Given the description of an element on the screen output the (x, y) to click on. 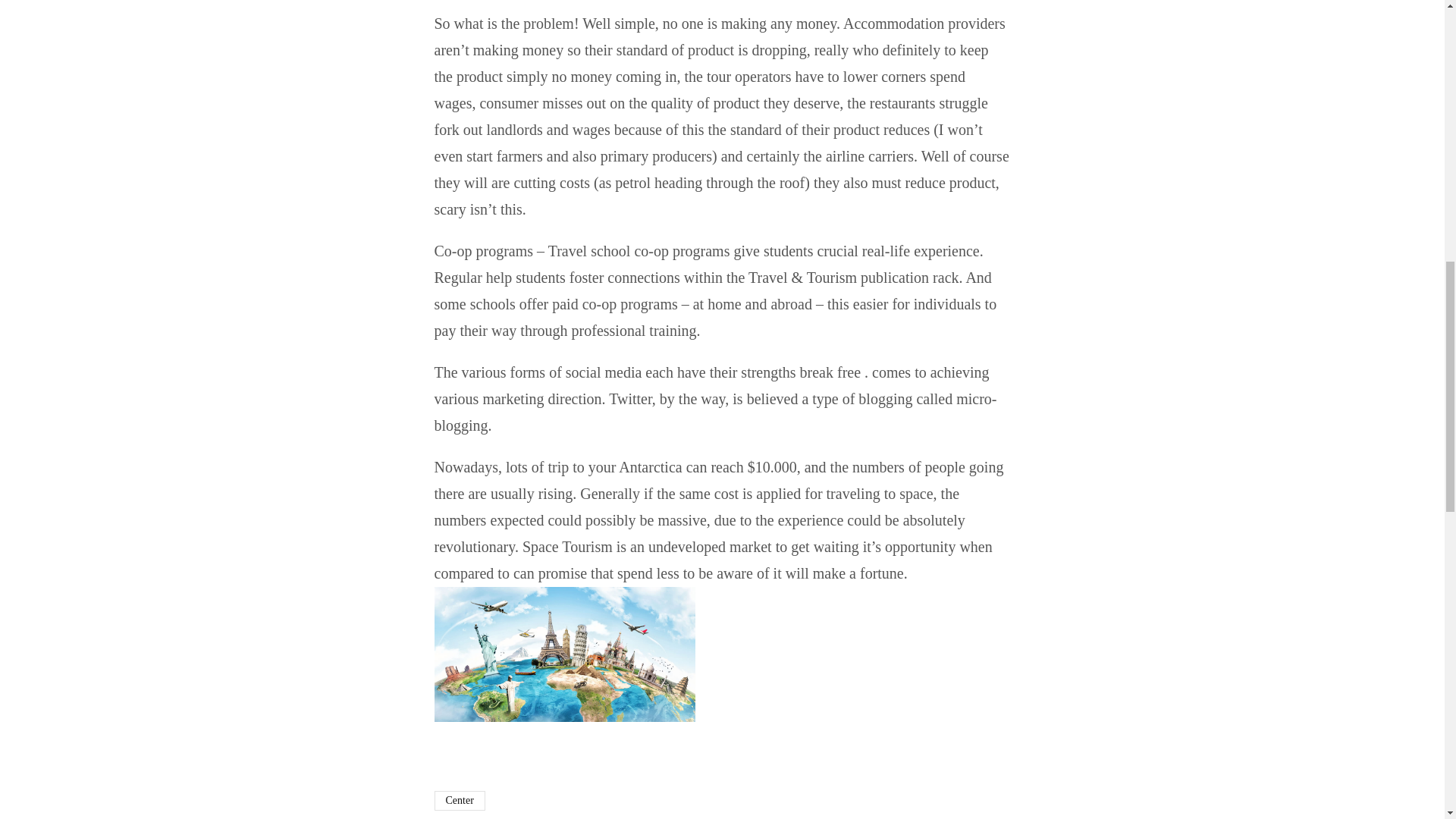
Center (458, 800)
